Given the description of an element on the screen output the (x, y) to click on. 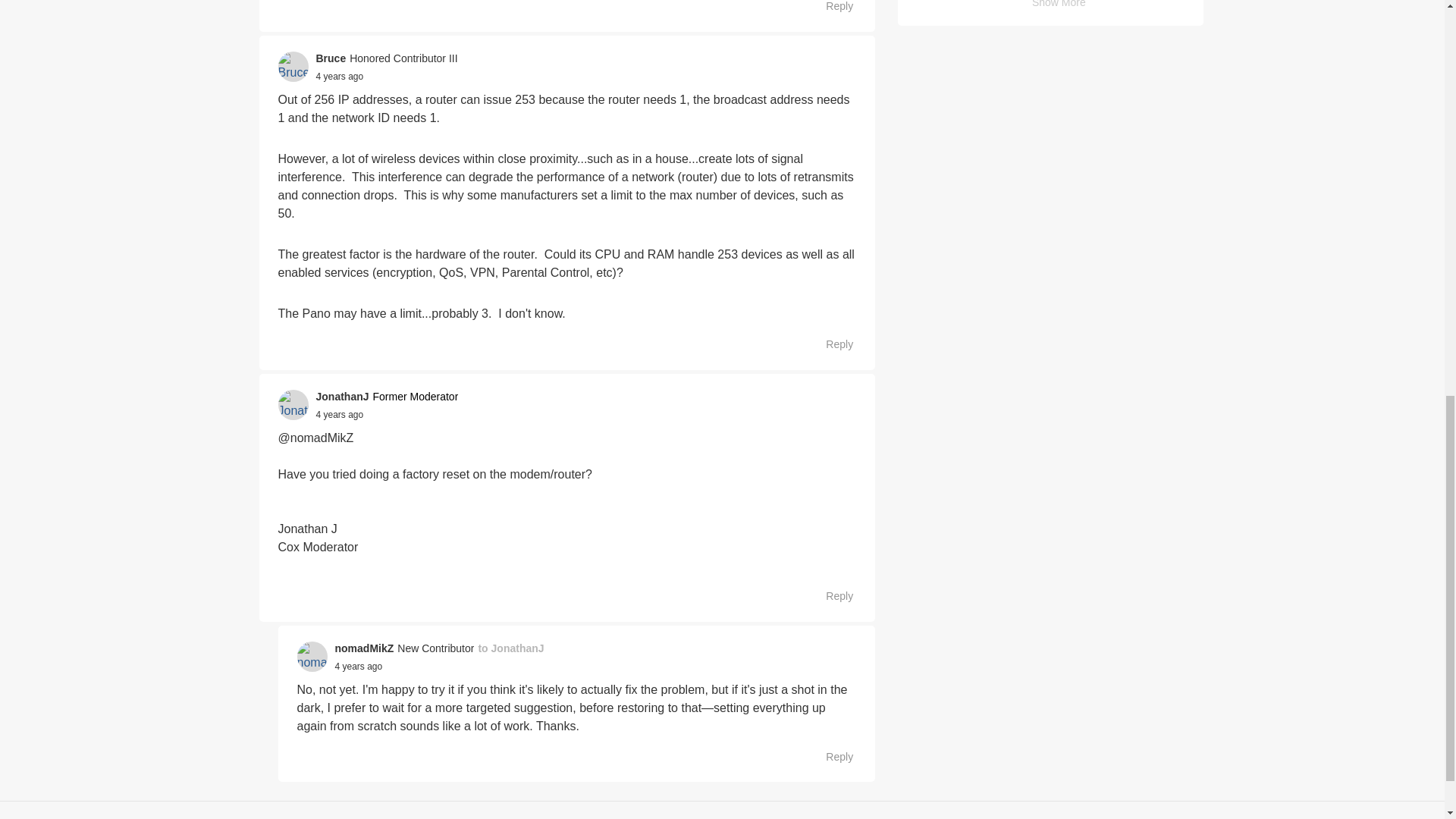
April 28, 2021 at 8:21 AM (338, 76)
Reply (831, 8)
Reply (831, 344)
4 years ago (338, 76)
April 27, 2021 at 10:16 AM (338, 414)
Bruce (330, 58)
April 28, 2021 at 5:59 AM (358, 665)
